Given the description of an element on the screen output the (x, y) to click on. 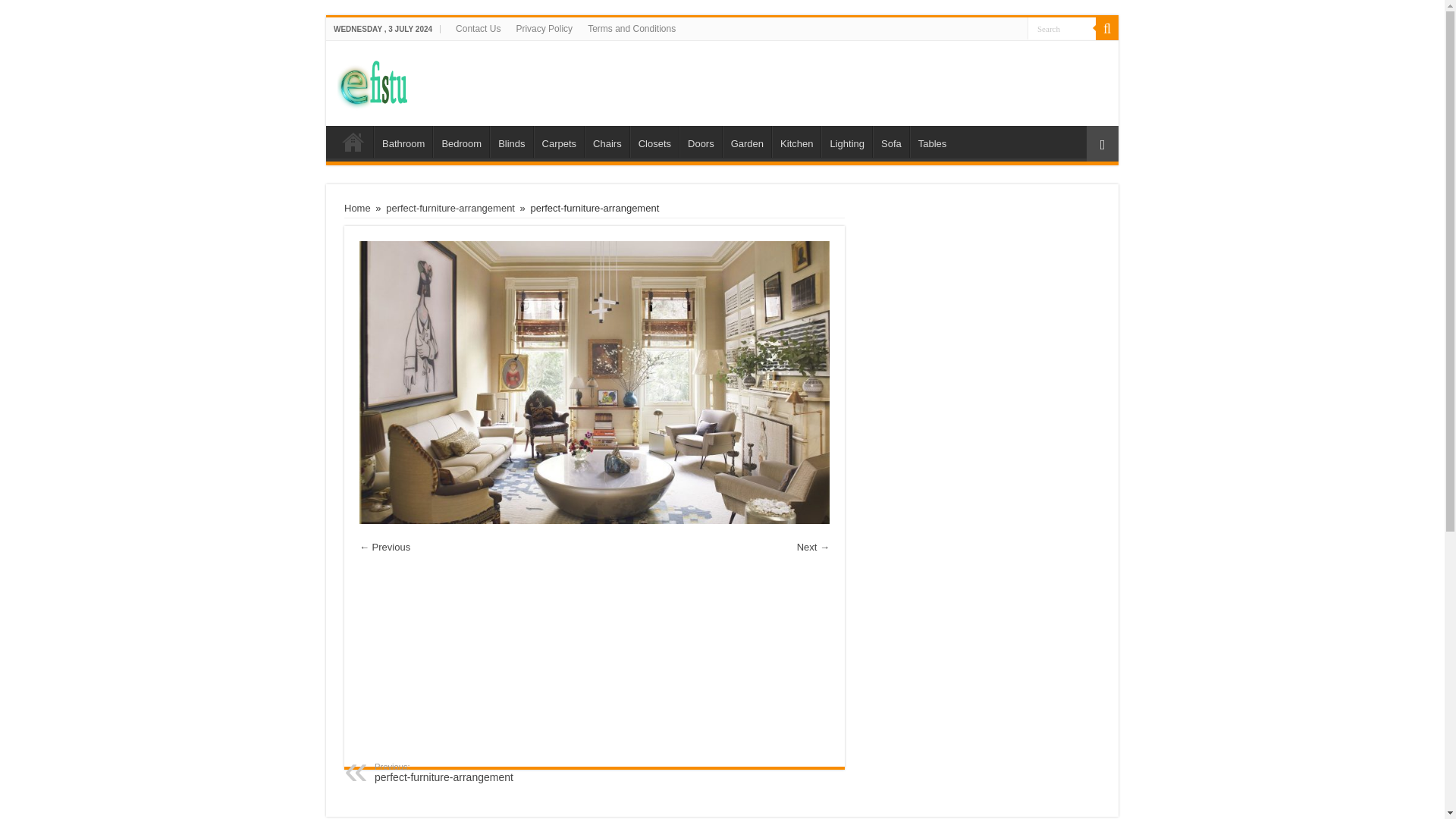
Contact Us (478, 28)
efistu.com (721, 83)
Bathroom (403, 142)
Advertisement (594, 662)
Garden (746, 142)
Doors (700, 142)
Search (1107, 28)
Search (1061, 28)
Tables (932, 142)
Sofa (890, 142)
Kitchen (796, 142)
Closets (654, 142)
Terms and Conditions (630, 28)
perfect-furniture-arrangement (450, 207)
Home (352, 142)
